Given the description of an element on the screen output the (x, y) to click on. 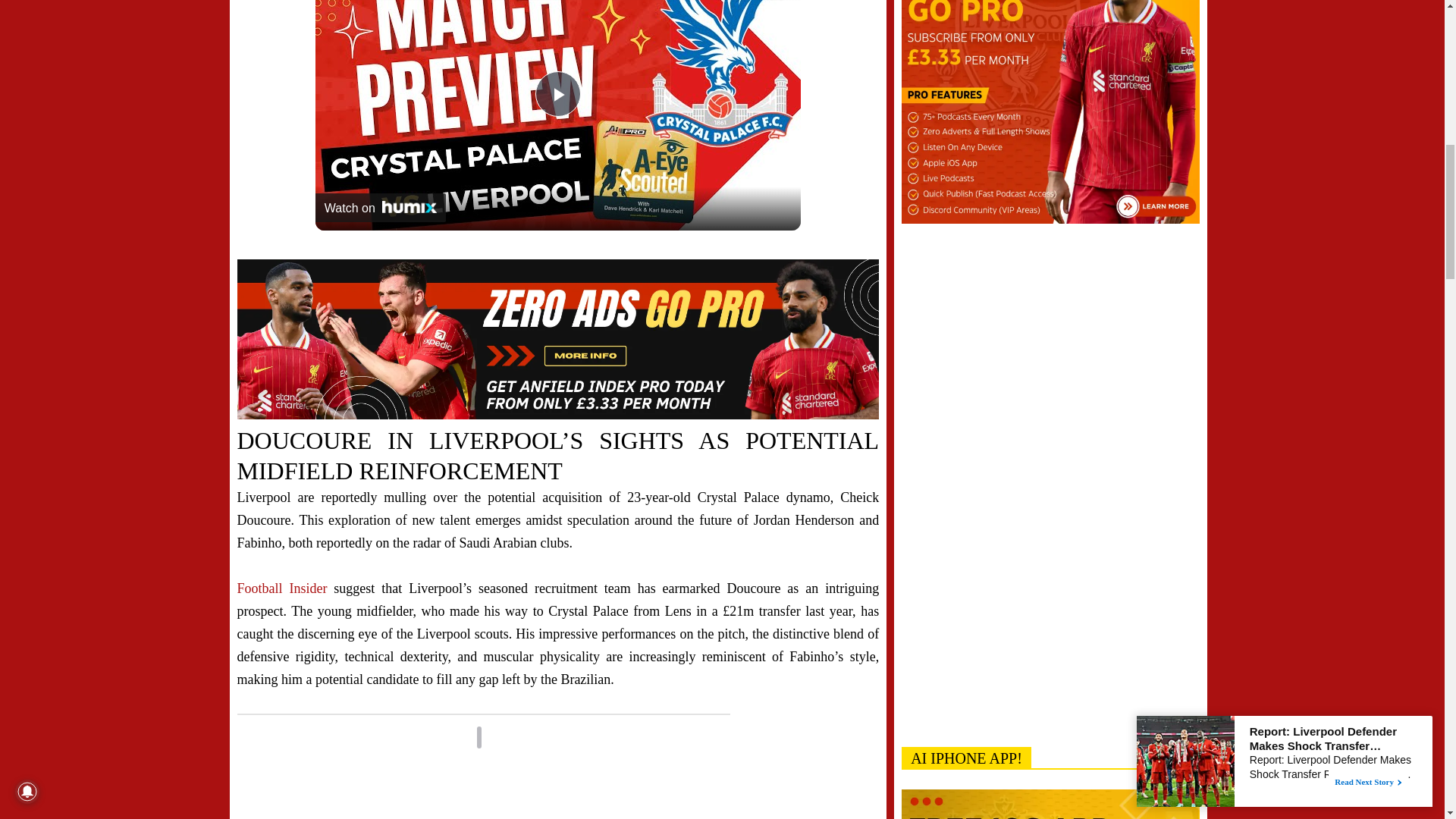
Play Video (557, 94)
share (770, 3)
